Given the description of an element on the screen output the (x, y) to click on. 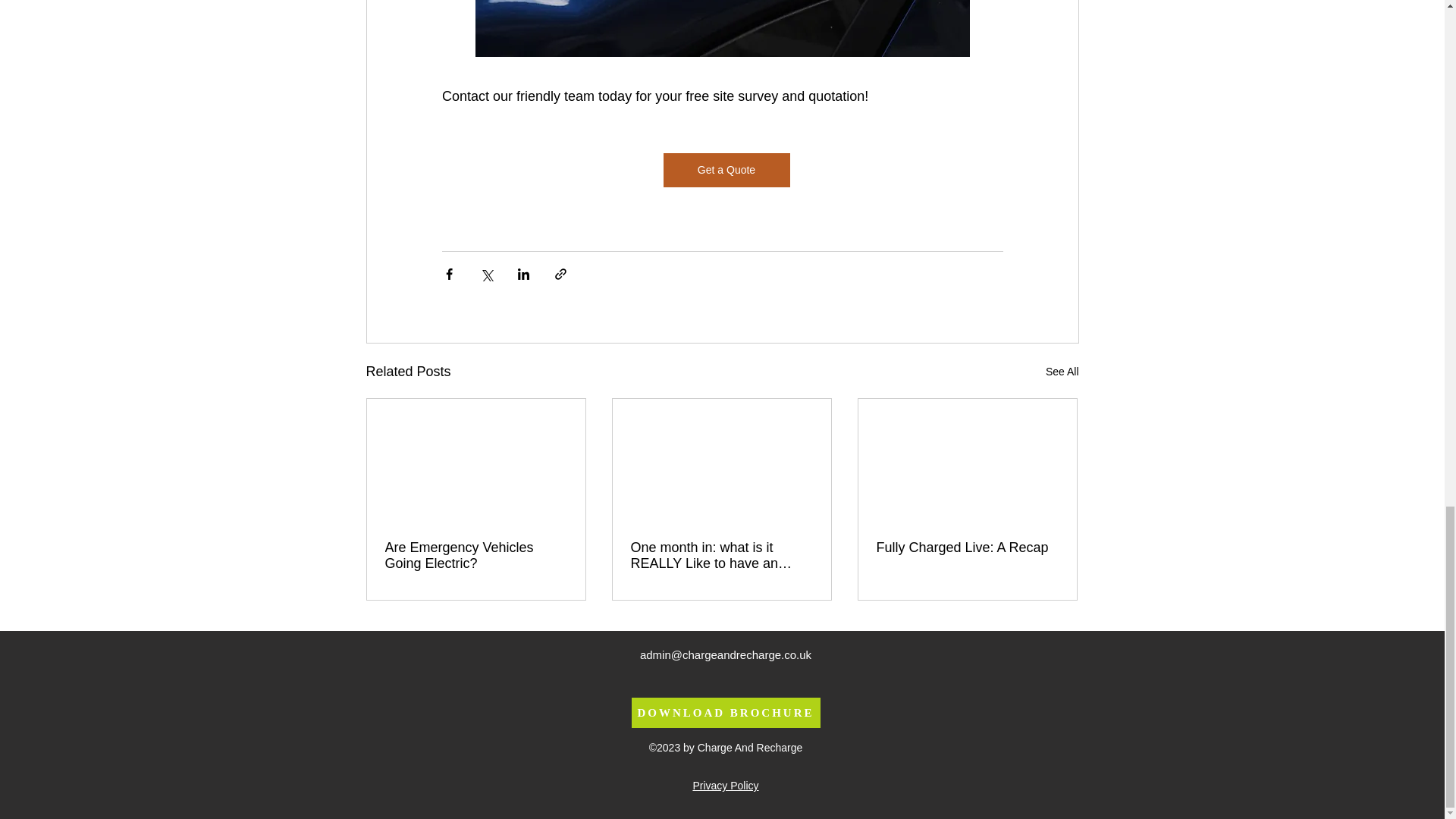
Get a Quote (725, 170)
See All (1061, 372)
Privacy Policy (725, 785)
DOWNLOAD BROCHURE (724, 712)
Are Emergency Vehicles Going Electric? (476, 555)
Fully Charged Live: A Recap (967, 547)
